Given the description of an element on the screen output the (x, y) to click on. 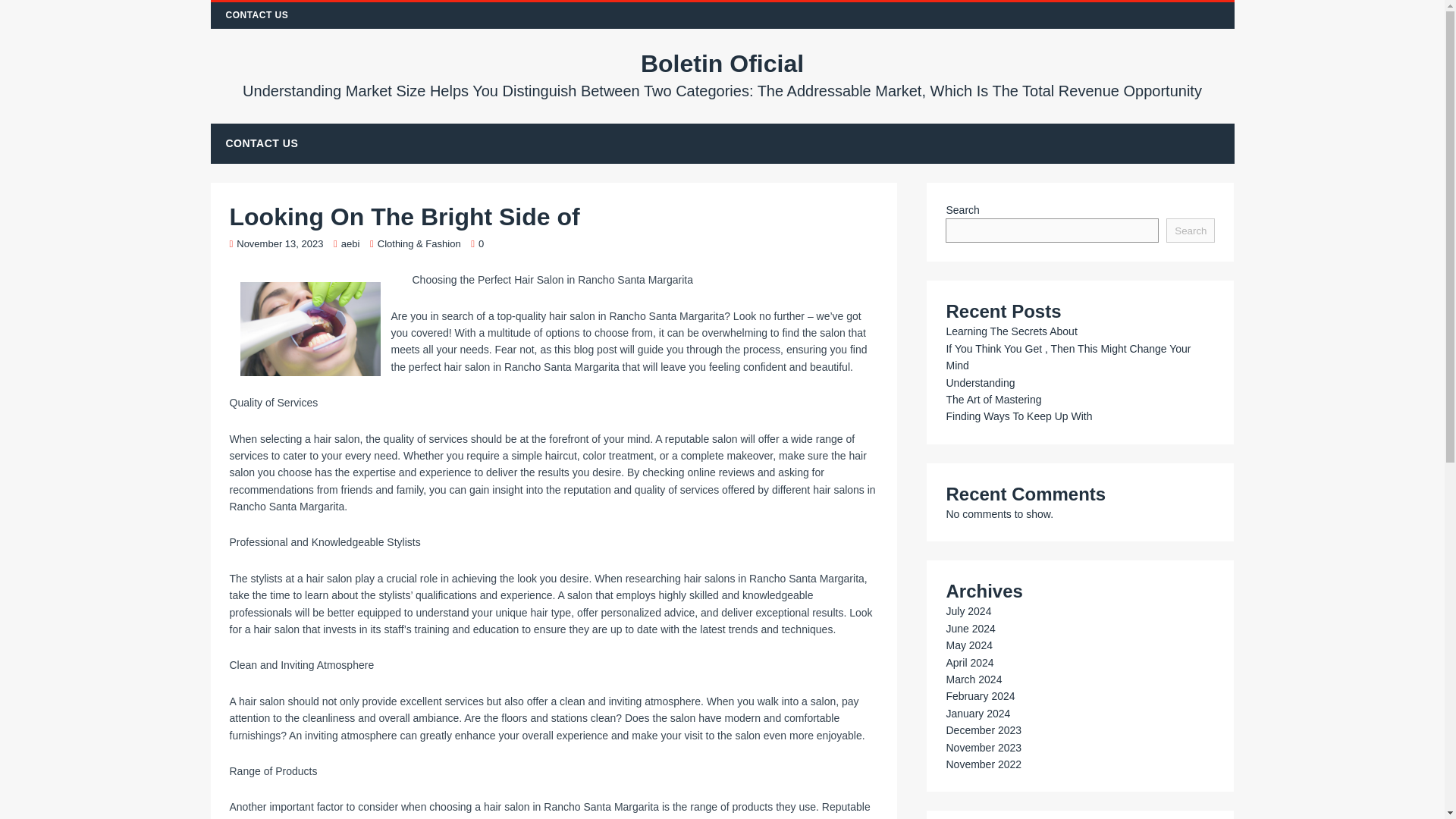
CONTACT US (257, 15)
November 13, 2023 (279, 243)
June 2024 (969, 628)
aebi (349, 243)
March 2024 (972, 679)
Boletin Oficial (722, 74)
CONTACT US (262, 142)
December 2023 (983, 729)
November 2022 (983, 764)
Understanding (979, 382)
January 2024 (977, 713)
April 2024 (968, 662)
November 2023 (983, 747)
Learning The Secrets About (1010, 331)
